Given the description of an element on the screen output the (x, y) to click on. 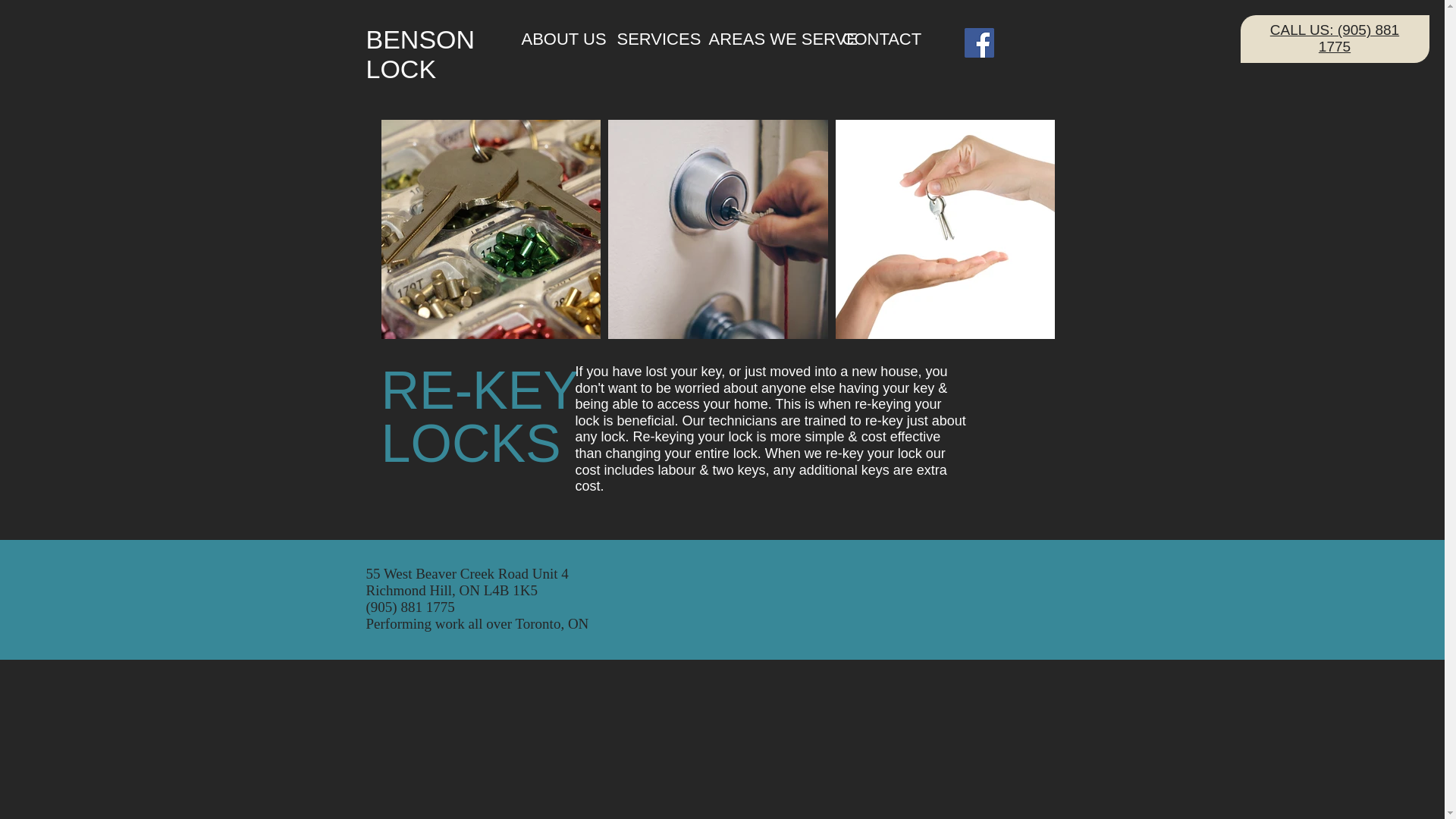
ABOUT US (557, 38)
AREAS WE SERVE (764, 38)
BENSON LOCK (419, 54)
SERVICES (651, 38)
CONTACT (876, 38)
